Given the description of an element on the screen output the (x, y) to click on. 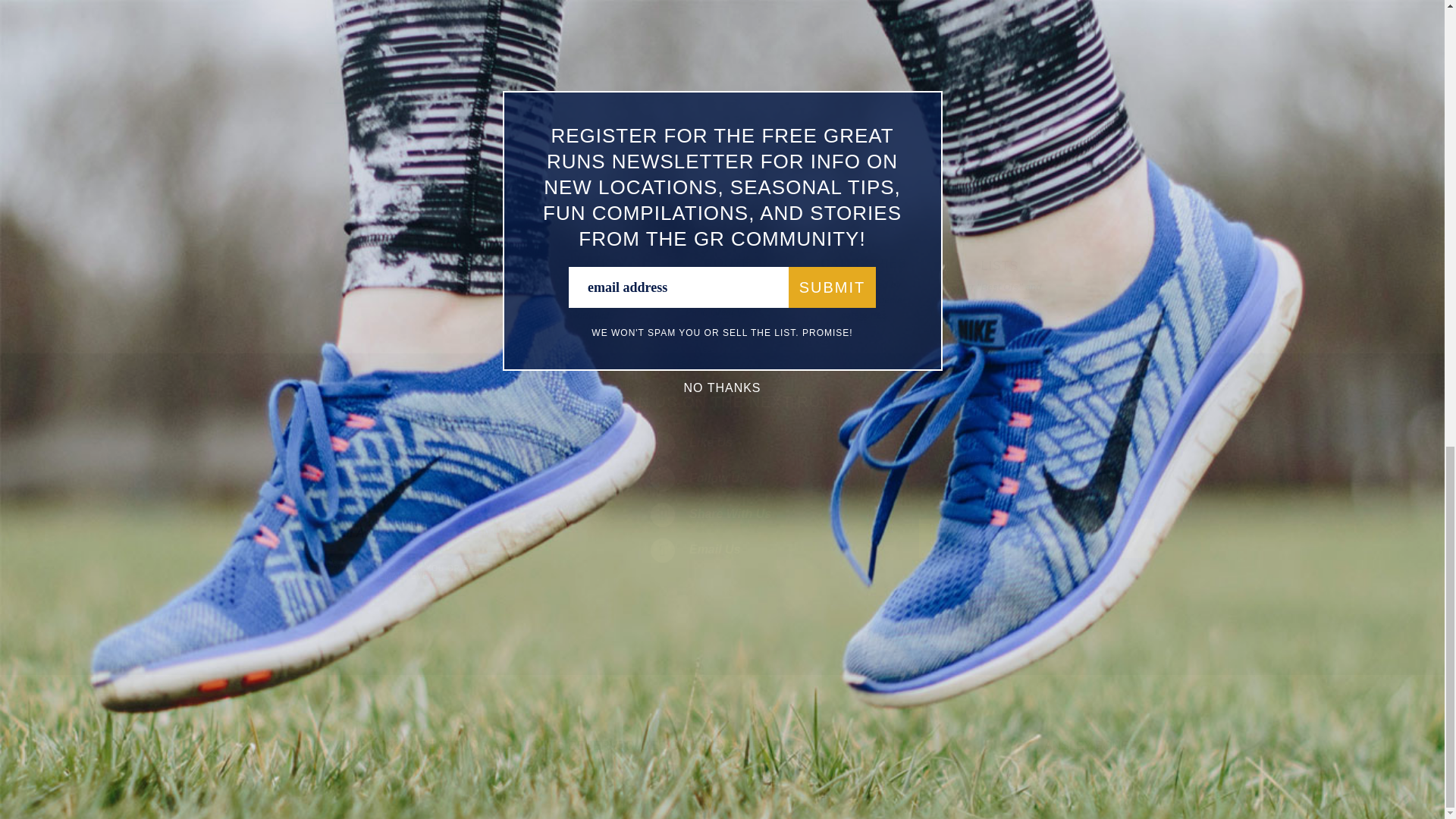
Unordered List (446, 35)
Strike (403, 35)
Source Code (528, 35)
Link (509, 35)
Ordered List (424, 35)
Spoiler (550, 35)
Submit (479, 532)
Bold (339, 35)
Code Block (488, 35)
Underline (382, 35)
Italic (360, 35)
Blockquote (467, 35)
